Given the description of an element on the screen output the (x, y) to click on. 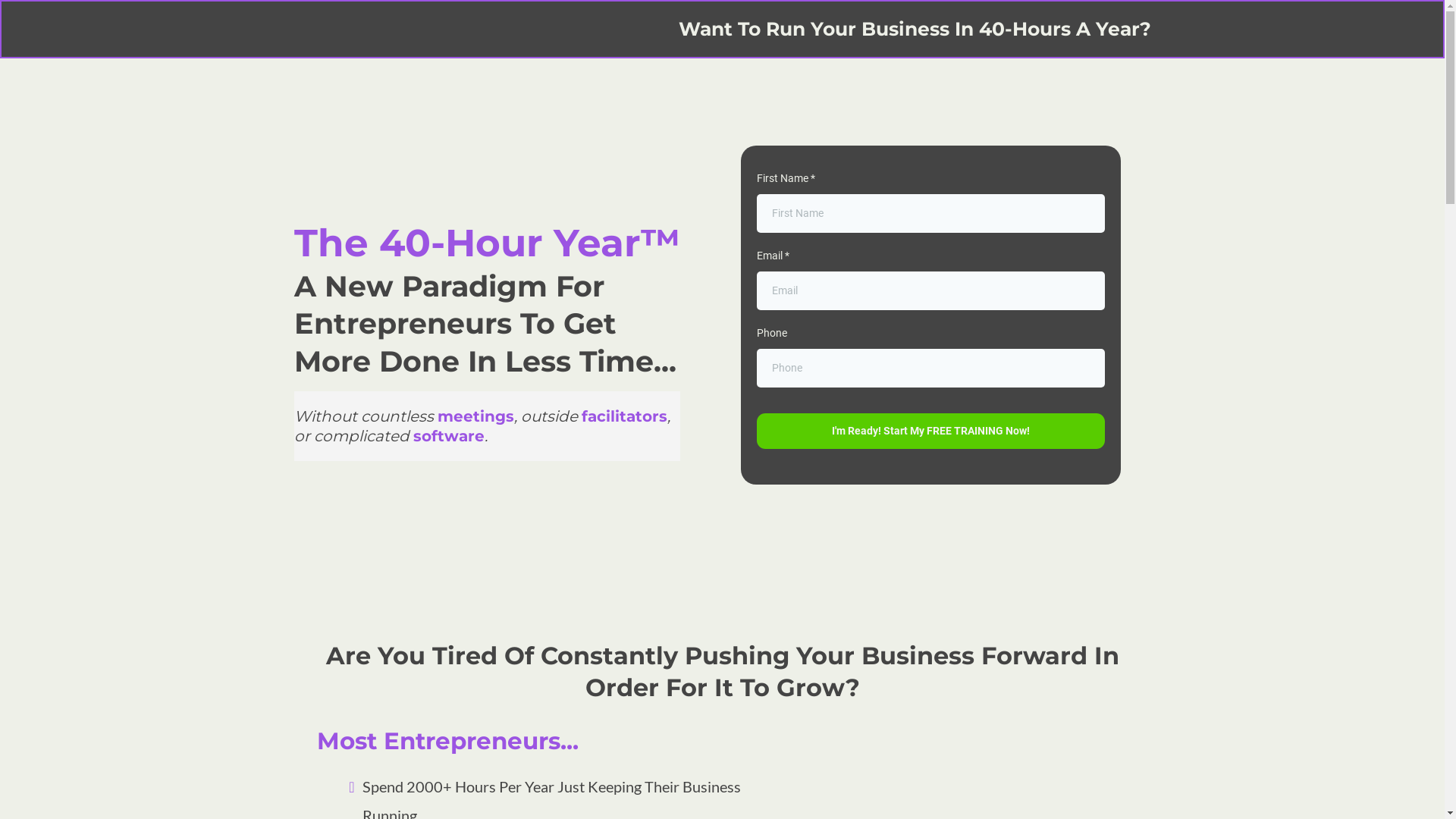
I'm Ready! Start My FREE TRAINING Now! Element type: text (930, 430)
